Given the description of an element on the screen output the (x, y) to click on. 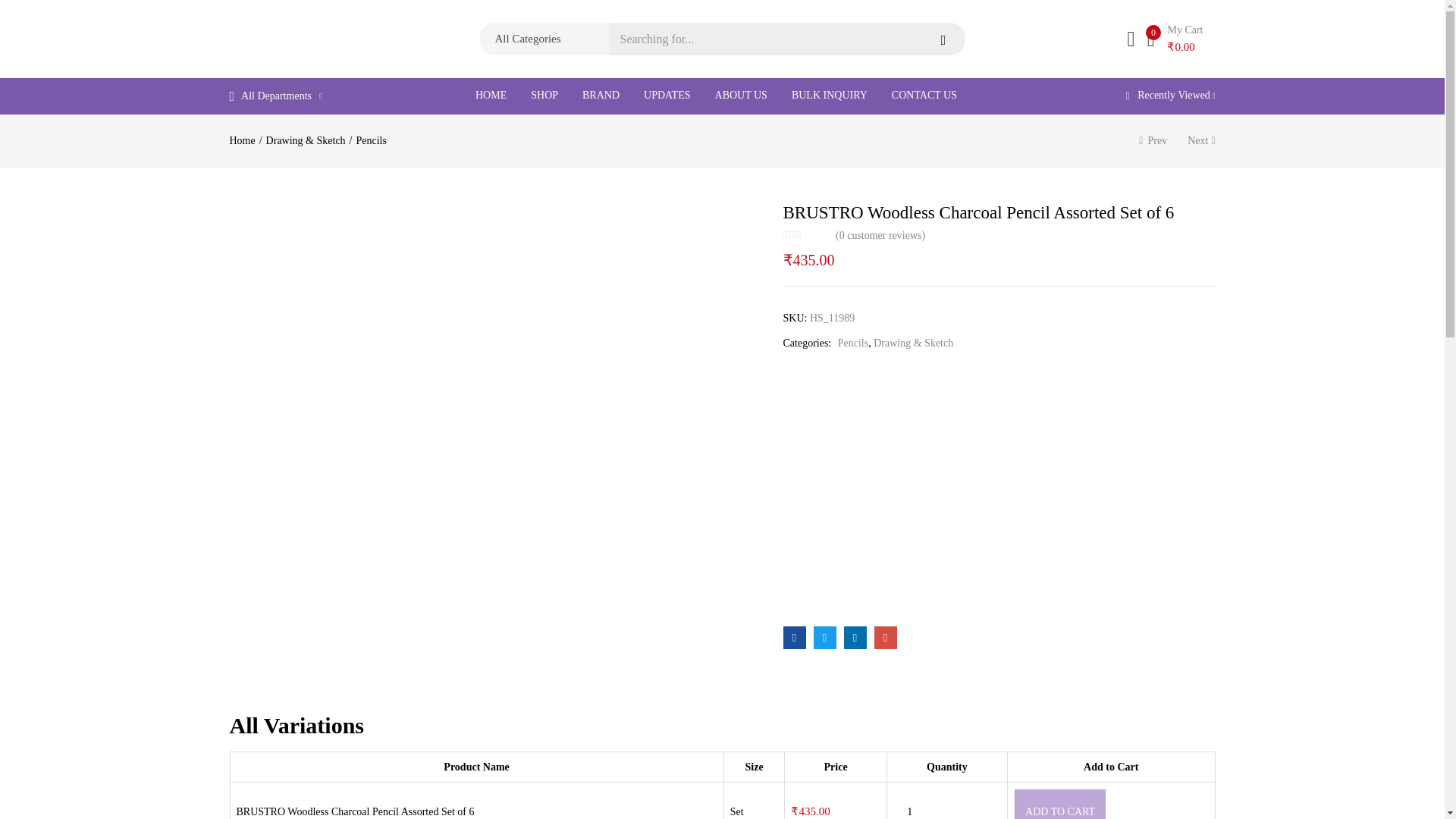
BRUSTRO Woodless Charcoal  Pencil Assorted Set of 6 (884, 637)
1 (909, 807)
Brustro (907, 491)
BRUSTRO Woodless Charcoal  Pencil Assorted Set of 6 (794, 637)
View your shopping cart (1175, 39)
Login or Register (1130, 38)
